Given the description of an element on the screen output the (x, y) to click on. 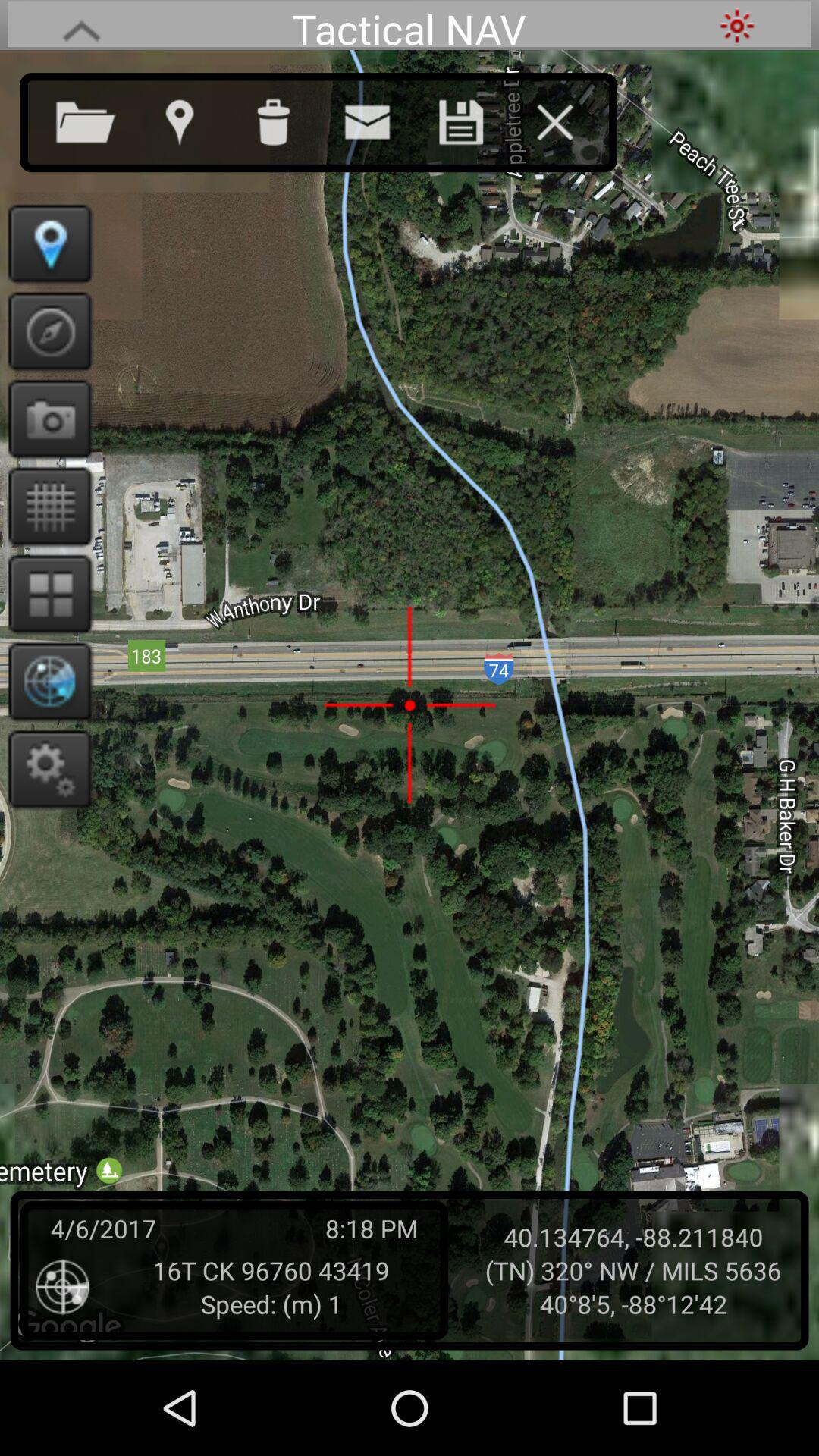
save location (476, 119)
